Given the description of an element on the screen output the (x, y) to click on. 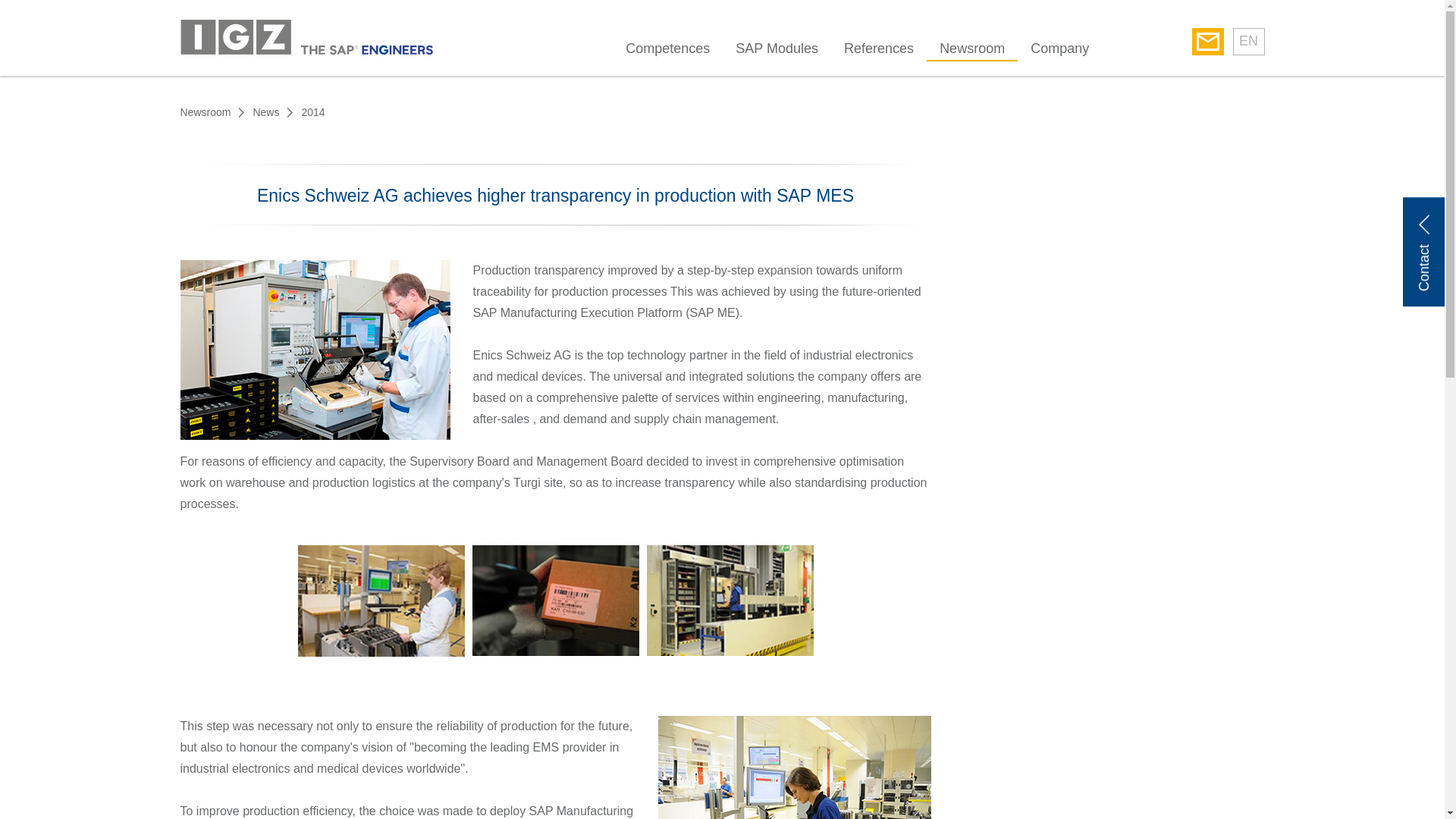
EMS Provider (555, 600)
Kontakt (1208, 41)
SAP ME Strategies (729, 600)
Competences (667, 51)
Production Enics Switzerland Corporation (794, 767)
Enics Business Objects (380, 600)
